Given the description of an element on the screen output the (x, y) to click on. 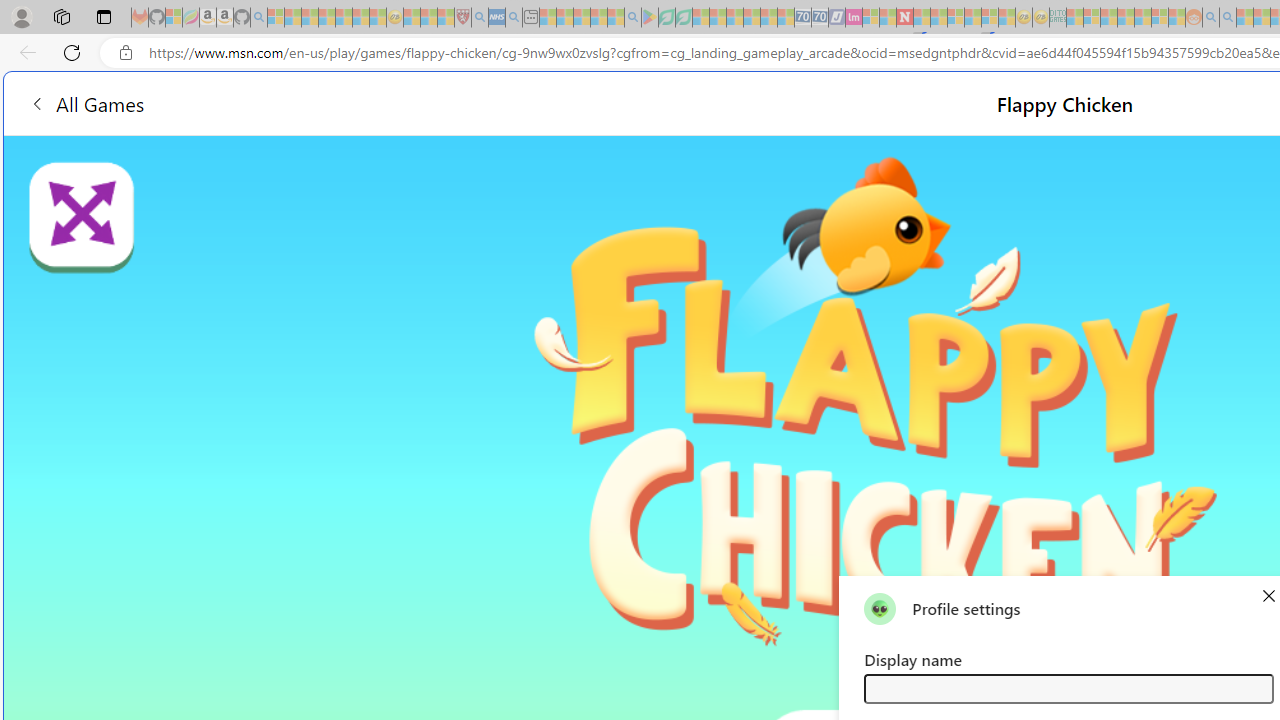
14 Common Myths Debunked By Scientific Facts - Sleeping (938, 17)
